Given the description of an element on the screen output the (x, y) to click on. 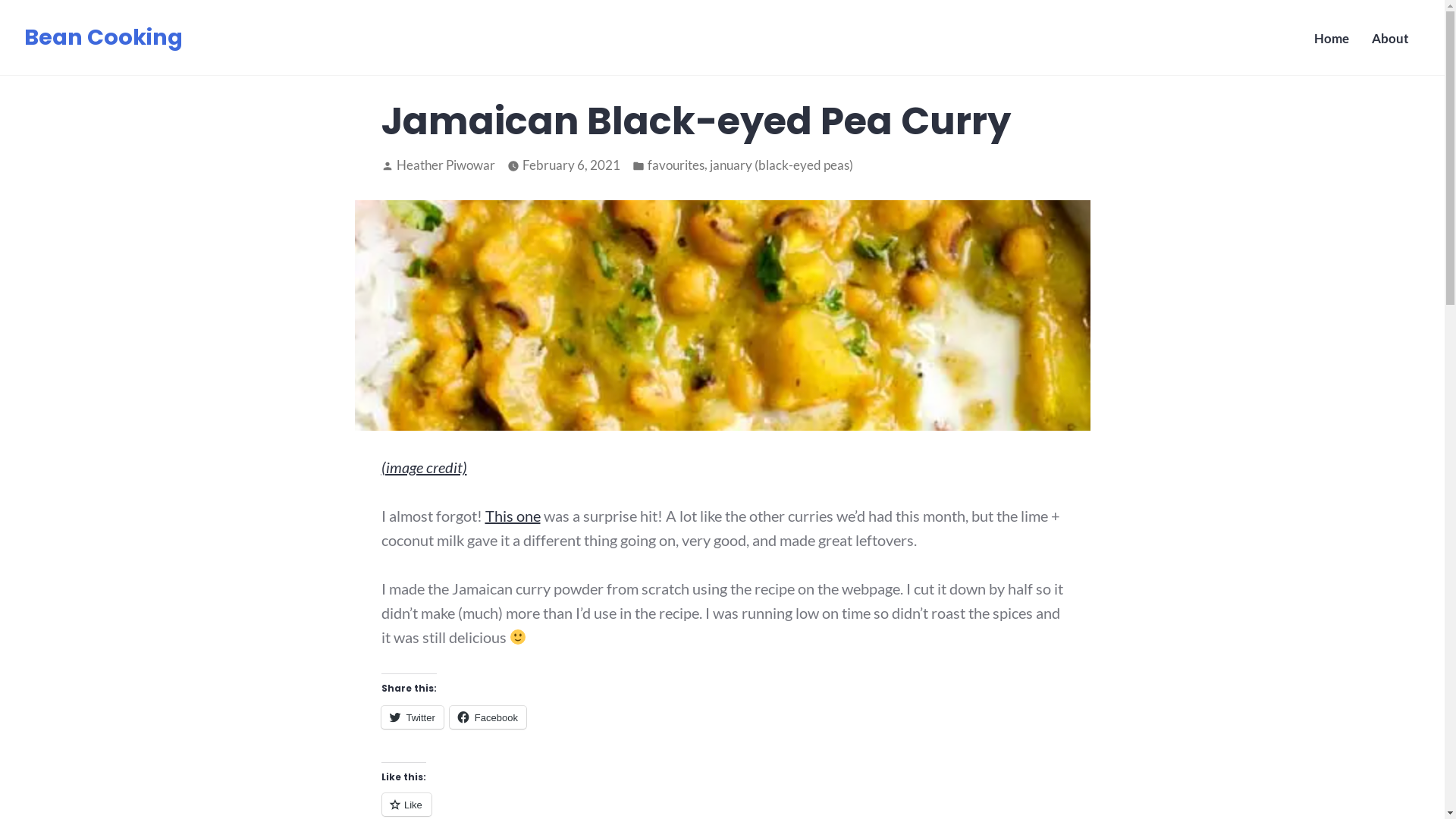
Heather Piwowar Element type: text (444, 164)
About Element type: text (1389, 39)
This one Element type: text (512, 515)
Facebook Element type: text (487, 717)
january (black-eyed peas) Element type: text (781, 165)
favourites Element type: text (675, 165)
February 6, 2021 Element type: text (570, 165)
Bean Cooking Element type: text (103, 36)
(image credit) Element type: text (423, 467)
Home Element type: text (1331, 39)
Twitter Element type: text (411, 717)
